Given the description of an element on the screen output the (x, y) to click on. 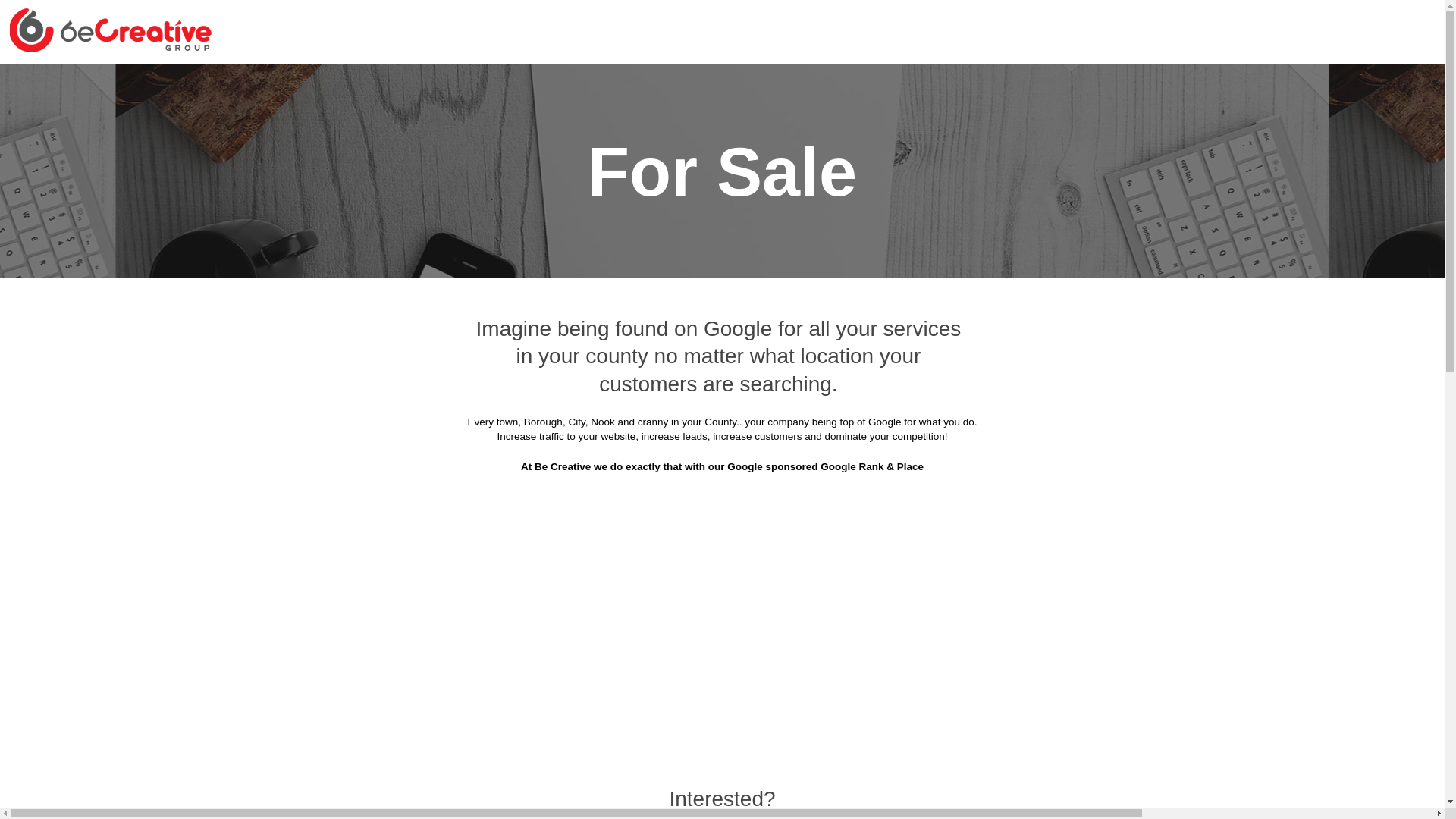
Aggregate Suppliers Callington Cornwall (834, 196)
Aggregate Suppliers Ivybridge Devon (848, 383)
Aggregate Suppliers Cornwall (488, 83)
Aggregate Suppliers Camborne Cornwall (1072, 196)
Aggregate Suppliers Hayle Cornwall (631, 346)
Aggregate Suppliers Bideford Devon (617, 121)
Aggregate Suppliers Ilfracombe Devon (625, 383)
Aggregate Suppliers Chulmleigh Devon (850, 234)
Aggregate Suppliers Bodmin Cornwall (837, 121)
Aggregate Suppliers Holsworthy Devon (1076, 346)
Aggregate Suppliers Brixham Devon (632, 158)
Aggregate Suppliers Buckfastleigh Devon (860, 158)
Aggregate Suppliers Budleigh Salterton Devon (582, 196)
Aggregate Suppliers Chudleigh Devon (622, 234)
Aggregate Suppliers Launceston Cornwall (632, 422)
